Given the description of an element on the screen output the (x, y) to click on. 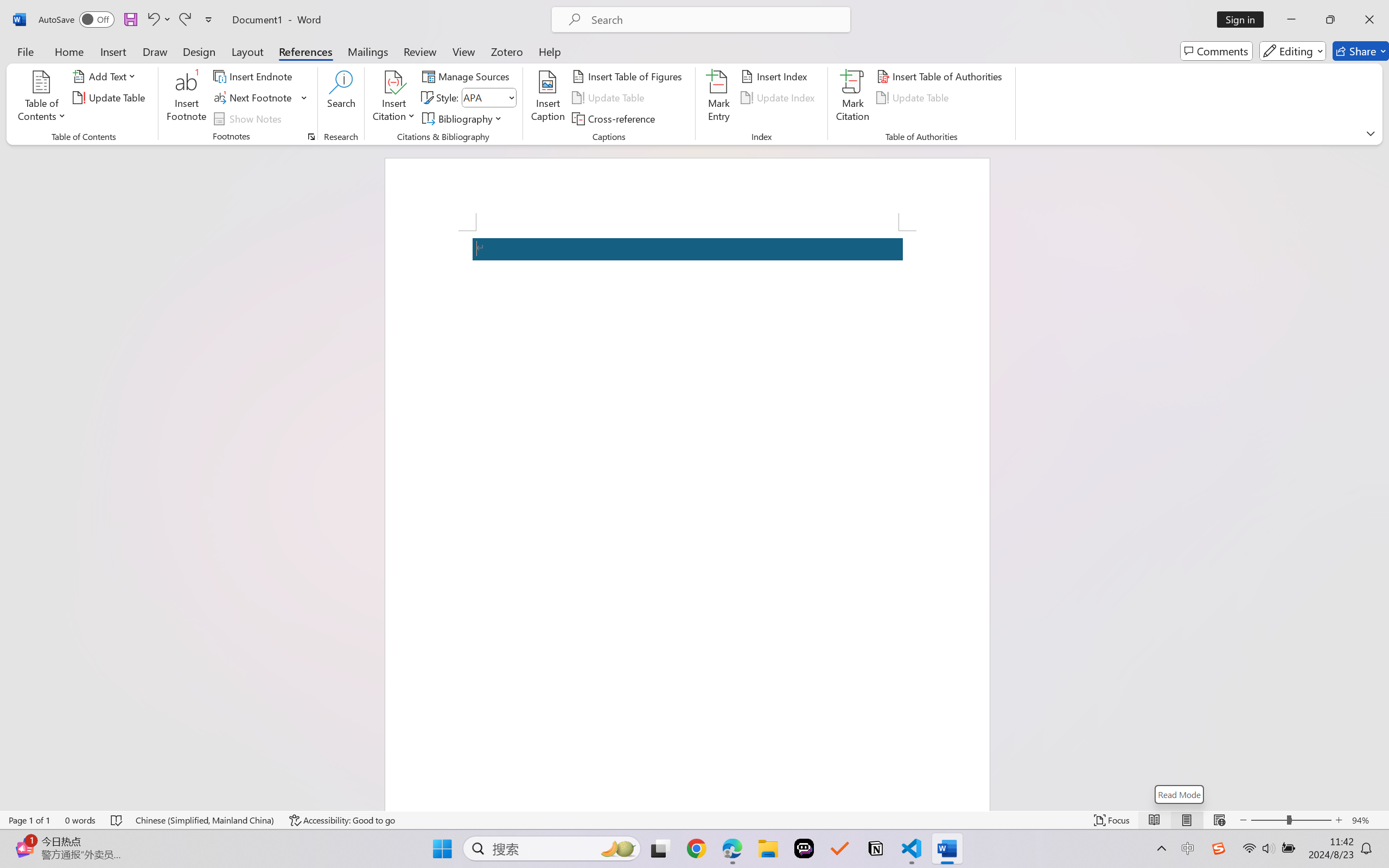
Insert Caption... (547, 97)
Undo Apply Quick Style Set (158, 19)
Update Index (778, 97)
Insert Footnote (186, 97)
Footnote and Endnote Dialog... (311, 136)
Undo Apply Quick Style Set (152, 19)
Mark Citation... (852, 97)
